Given the description of an element on the screen output the (x, y) to click on. 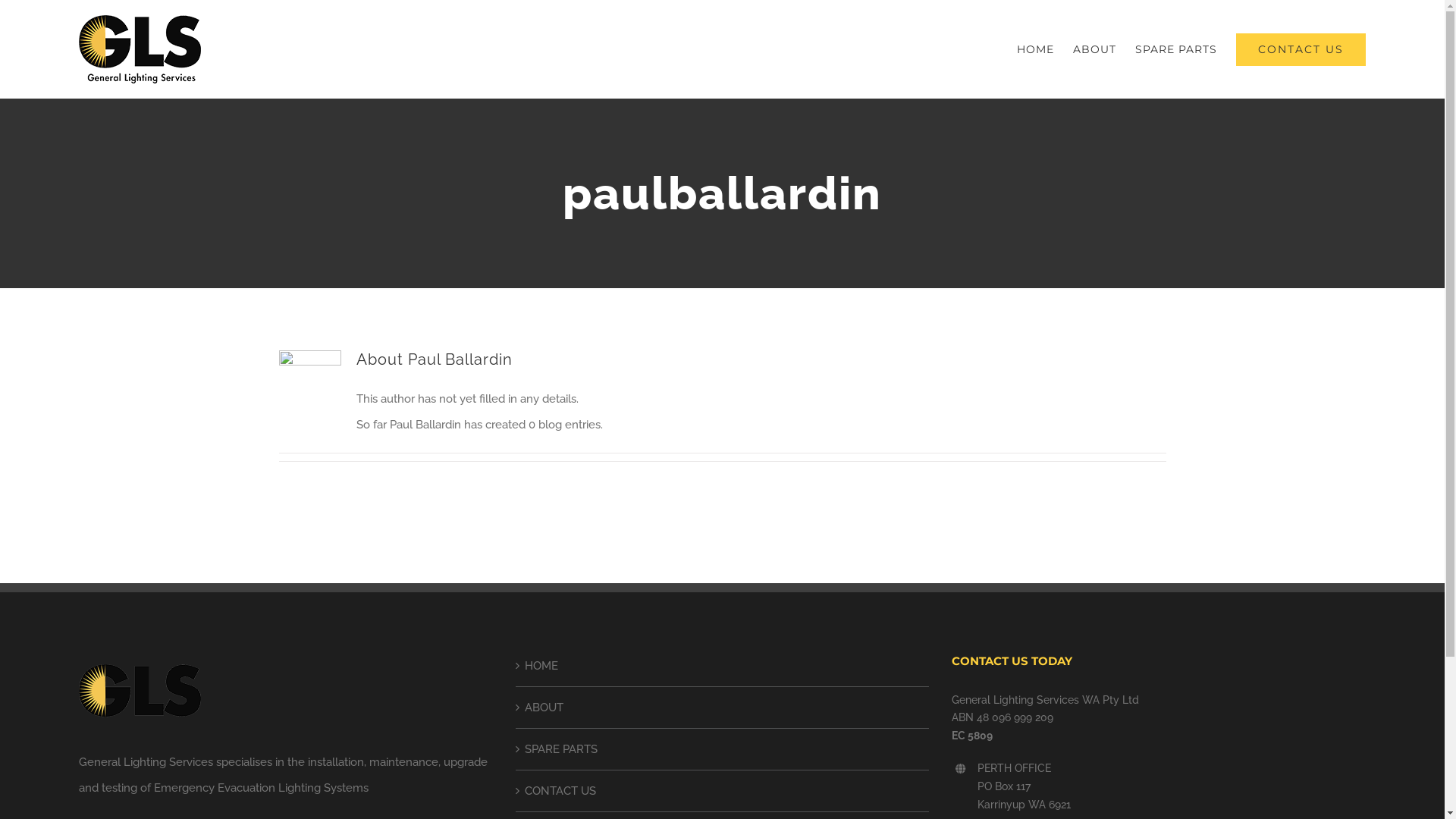
SPARE PARTS Element type: text (1176, 49)
CONTACT US Element type: text (1300, 49)
ABOUT Element type: text (1094, 49)
SPARE PARTS Element type: text (723, 749)
ABOUT Element type: text (723, 707)
HOME Element type: text (723, 665)
HOME Element type: text (1035, 49)
CONTACT US Element type: text (723, 790)
